Given the description of an element on the screen output the (x, y) to click on. 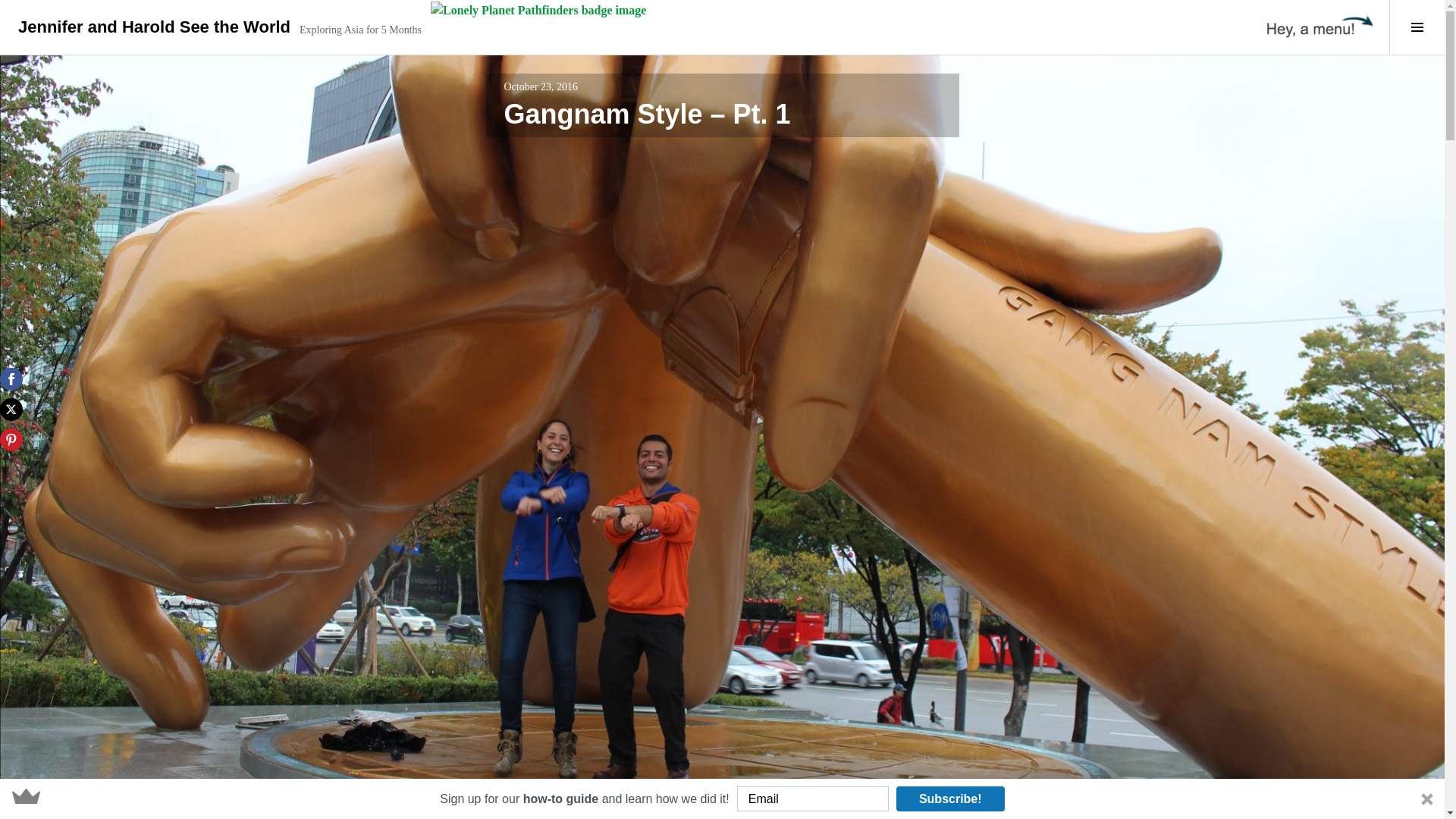
X (11, 409)
Jennifer and Harold See the World (153, 26)
Pinterest (11, 439)
Subscribe! (950, 798)
Facebook (11, 378)
